Given the description of an element on the screen output the (x, y) to click on. 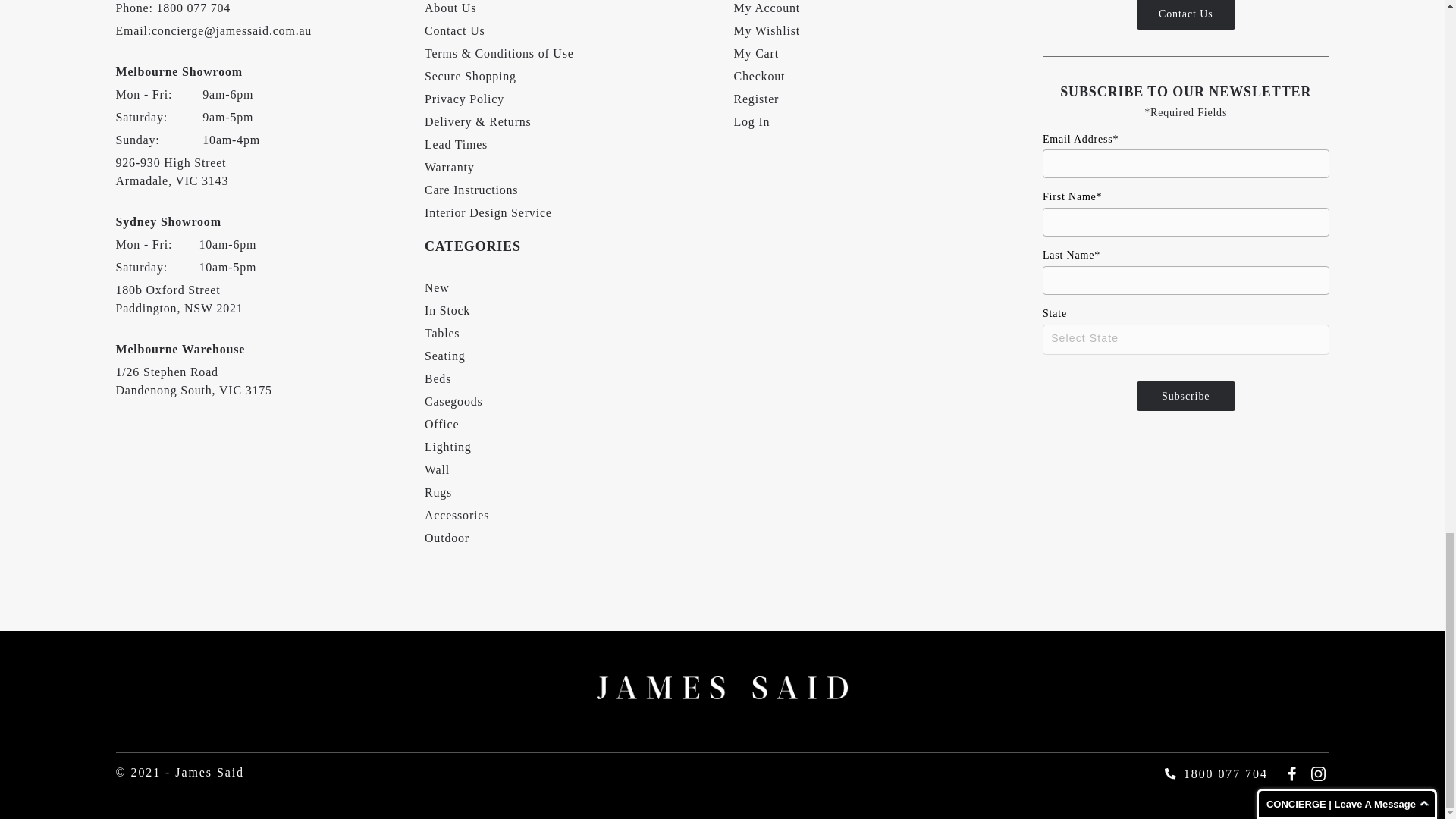
Subscribe (1185, 396)
